Given the description of an element on the screen output the (x, y) to click on. 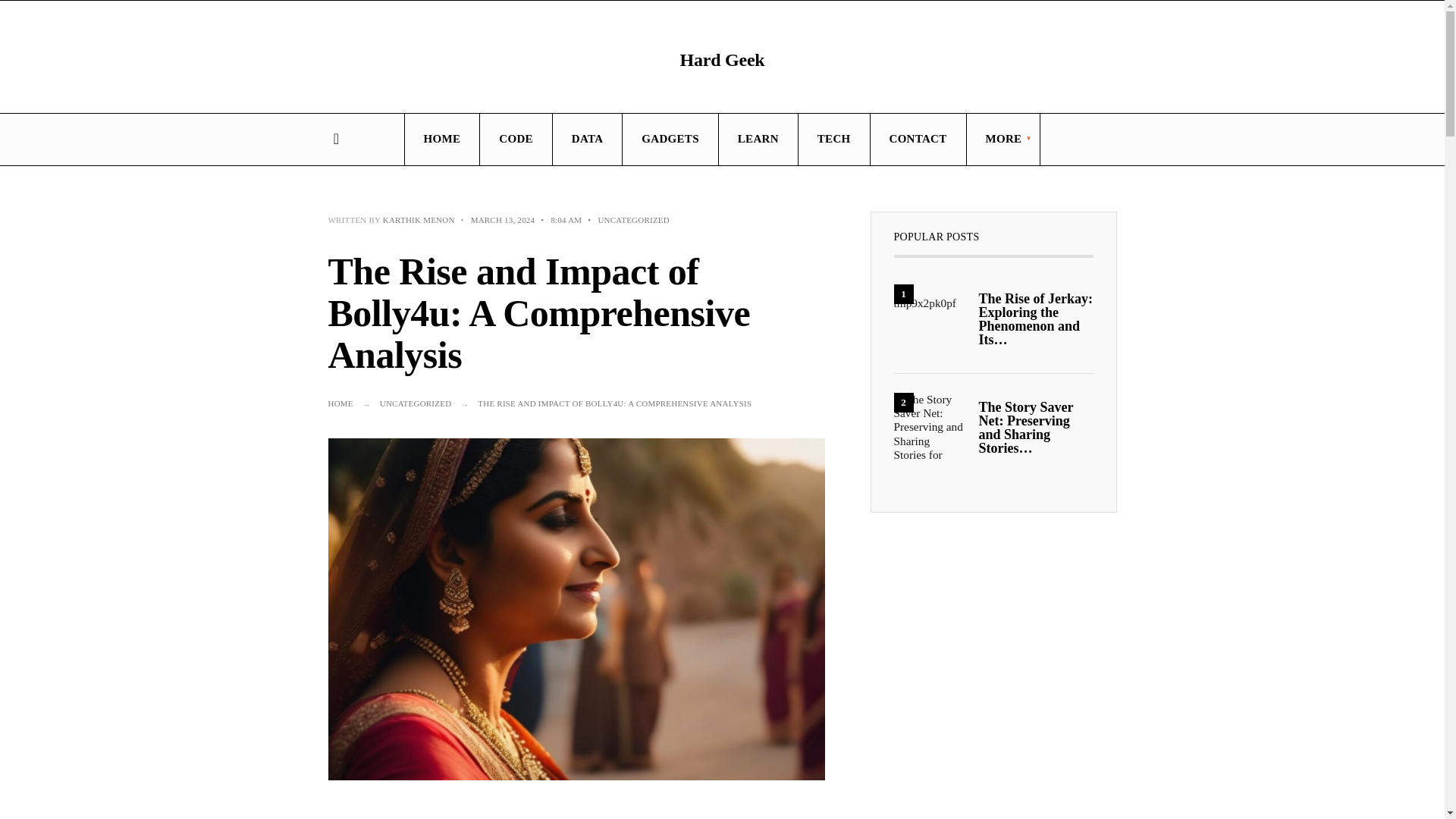
LEARN (758, 139)
Posts by Karthik Menon (418, 219)
GADGETS (669, 139)
KARTHIK MENON (418, 219)
MORE (1002, 139)
DATA (587, 139)
UNCATEGORIZED (415, 402)
CODE (516, 139)
UNCATEGORIZED (632, 219)
